Given the description of an element on the screen output the (x, y) to click on. 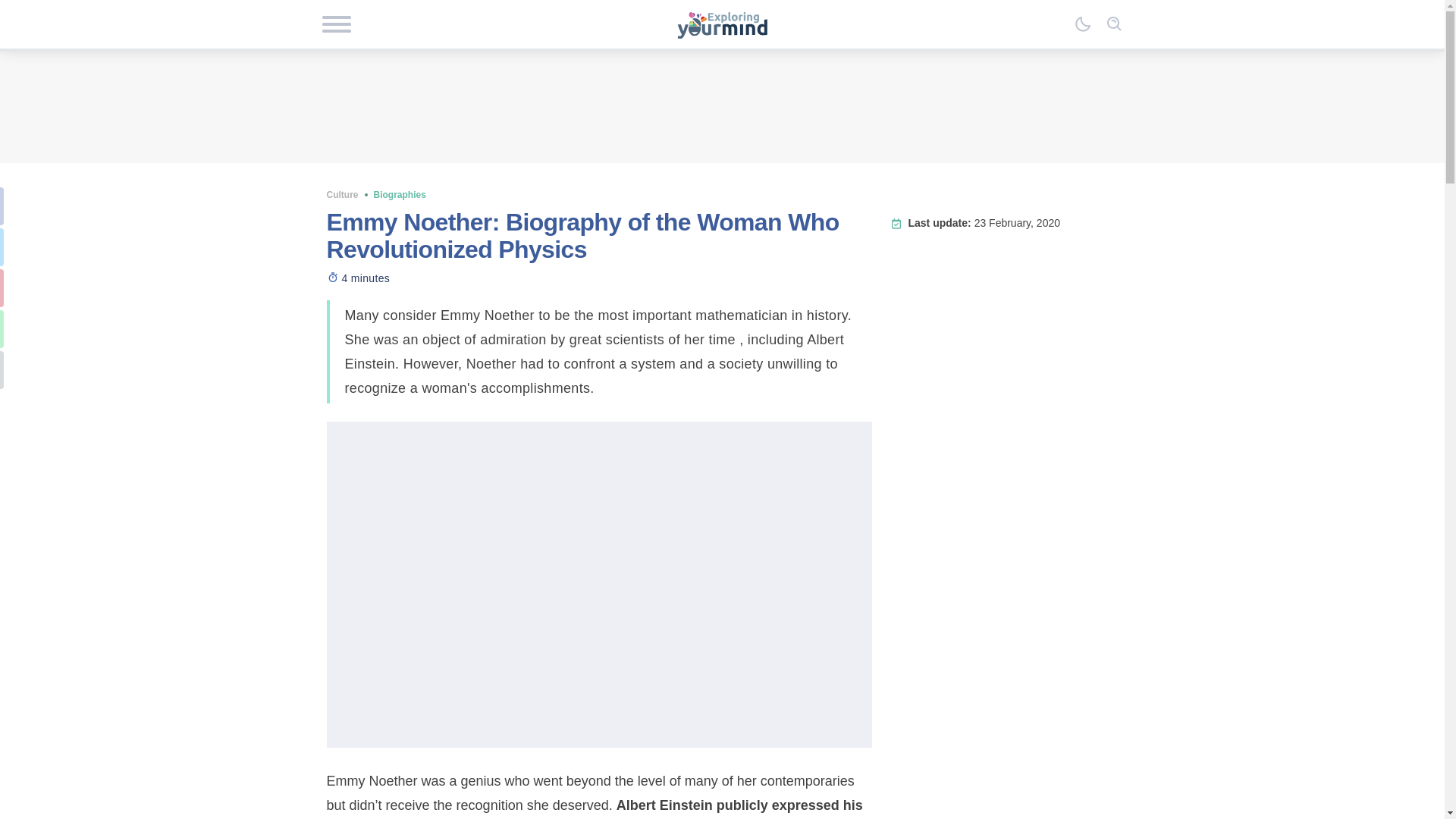
Culture (342, 193)
Biographies (398, 193)
Culture (342, 193)
Biographies (398, 193)
